Given the description of an element on the screen output the (x, y) to click on. 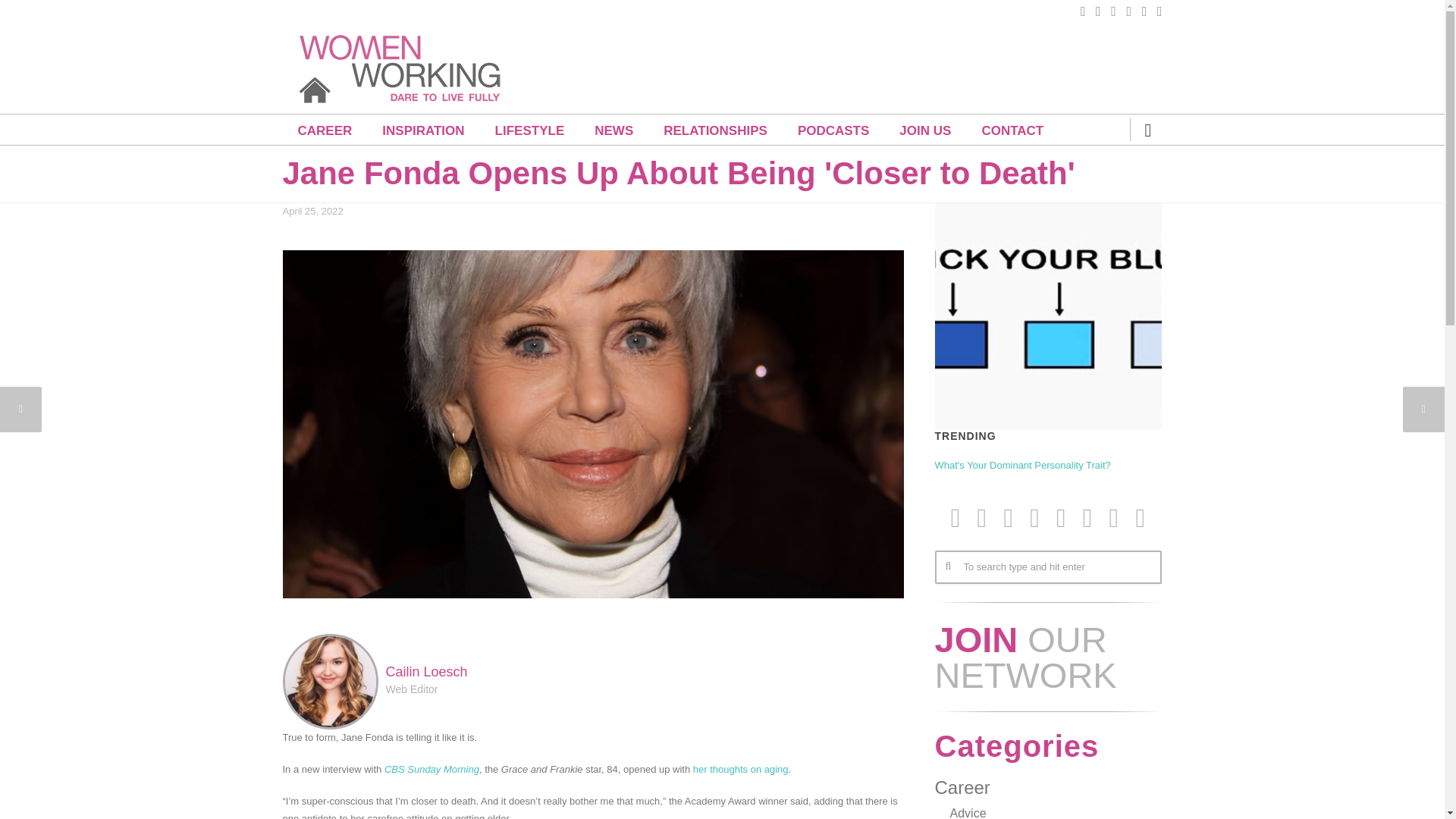
RELATIONSHIPS (715, 131)
NEWS (613, 131)
PODCASTS (833, 131)
To search type and hit enter (1047, 567)
LIFESTYLE (529, 131)
INSPIRATION (422, 131)
CAREER (324, 131)
JOIN US (924, 131)
CONTACT (1012, 131)
